Given the description of an element on the screen output the (x, y) to click on. 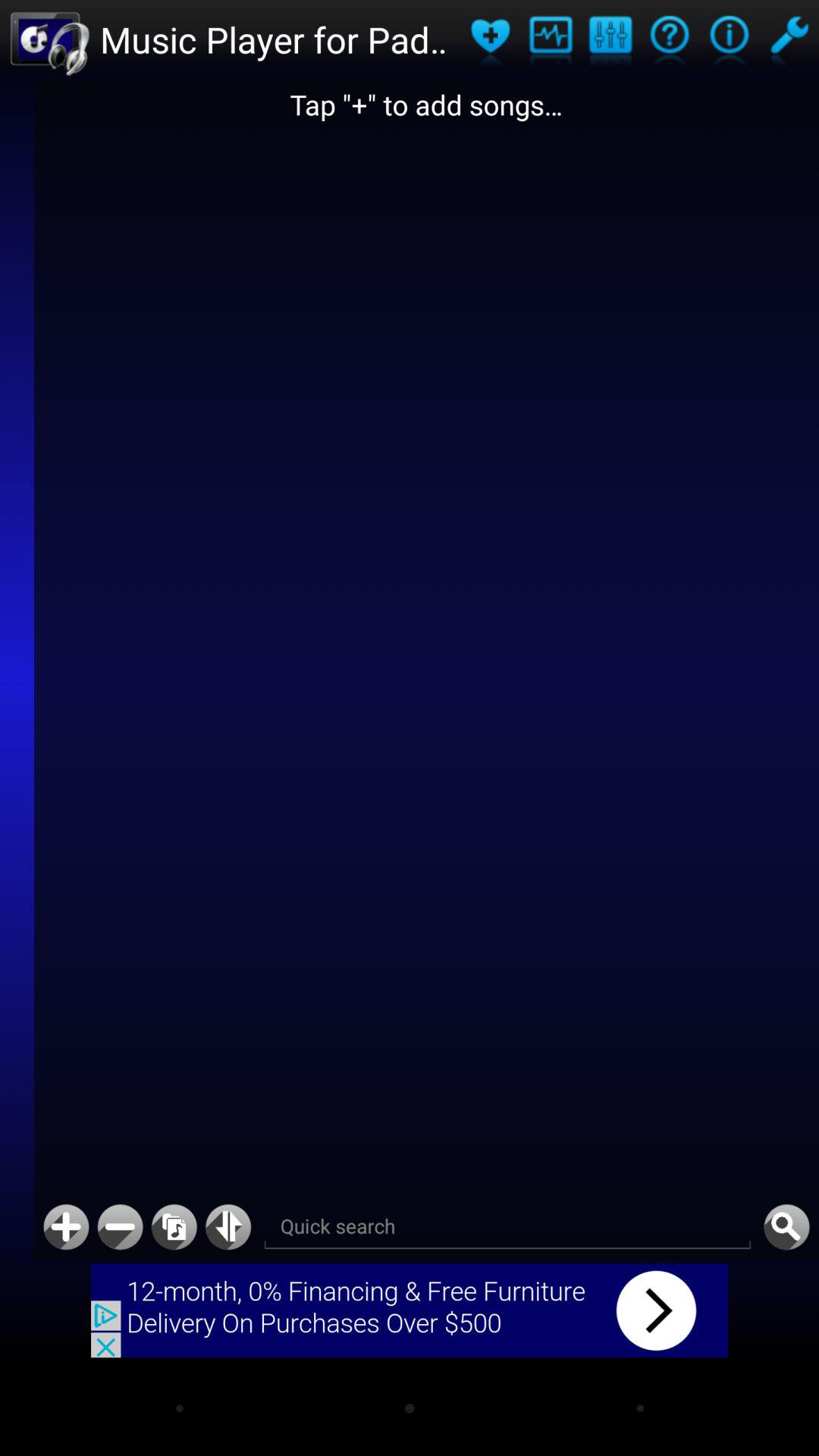
advertisement banner (409, 1310)
